Given the description of an element on the screen output the (x, y) to click on. 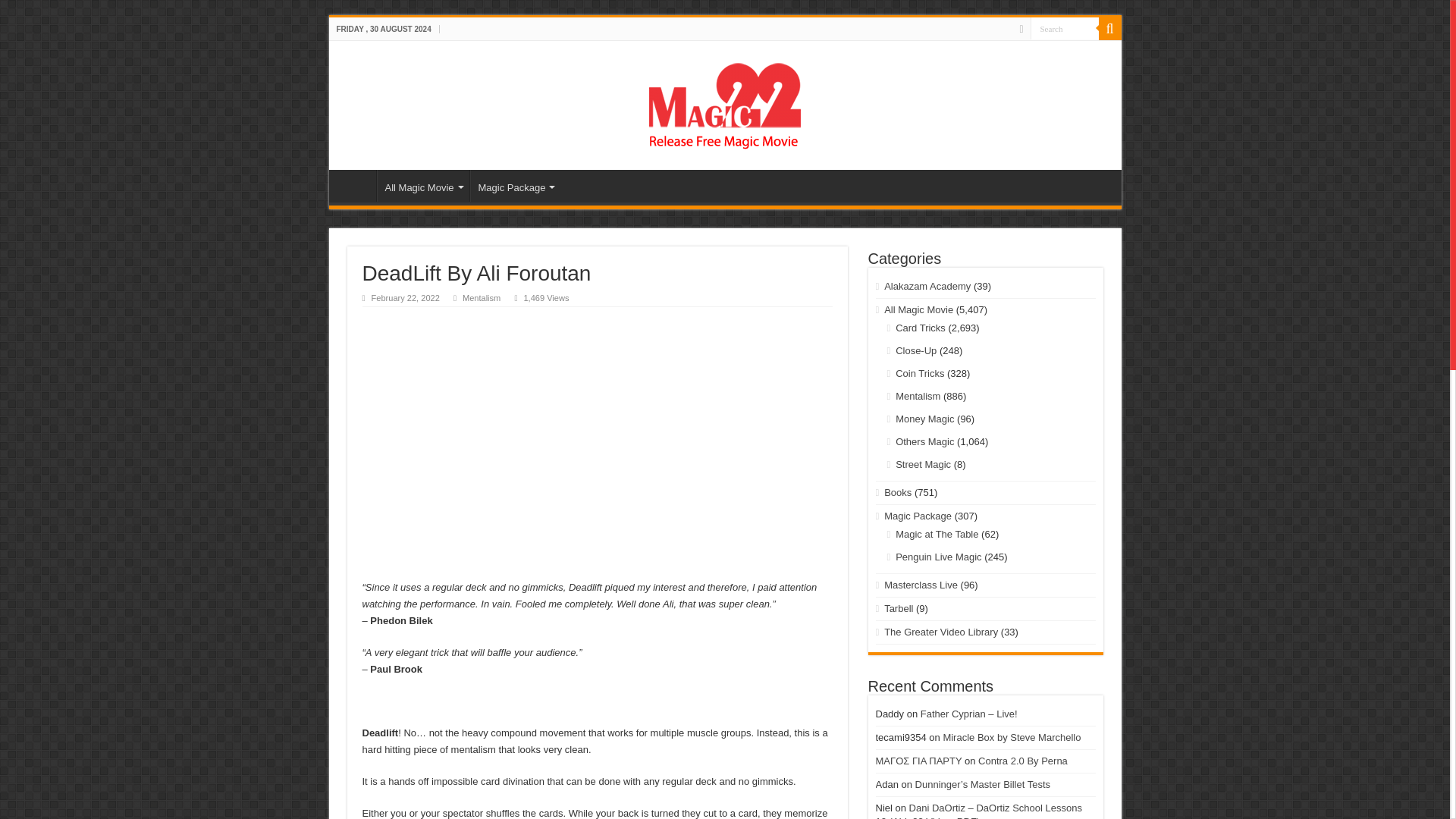
Search (1063, 28)
Magic22 (724, 102)
Penguin Live Magic (938, 556)
Magic at The Table (936, 533)
Mentalism (481, 297)
Magic Package (515, 185)
Magic Package (917, 515)
Card Tricks (919, 327)
Masterclass Live (920, 584)
All Magic Movie (918, 309)
